Given the description of an element on the screen output the (x, y) to click on. 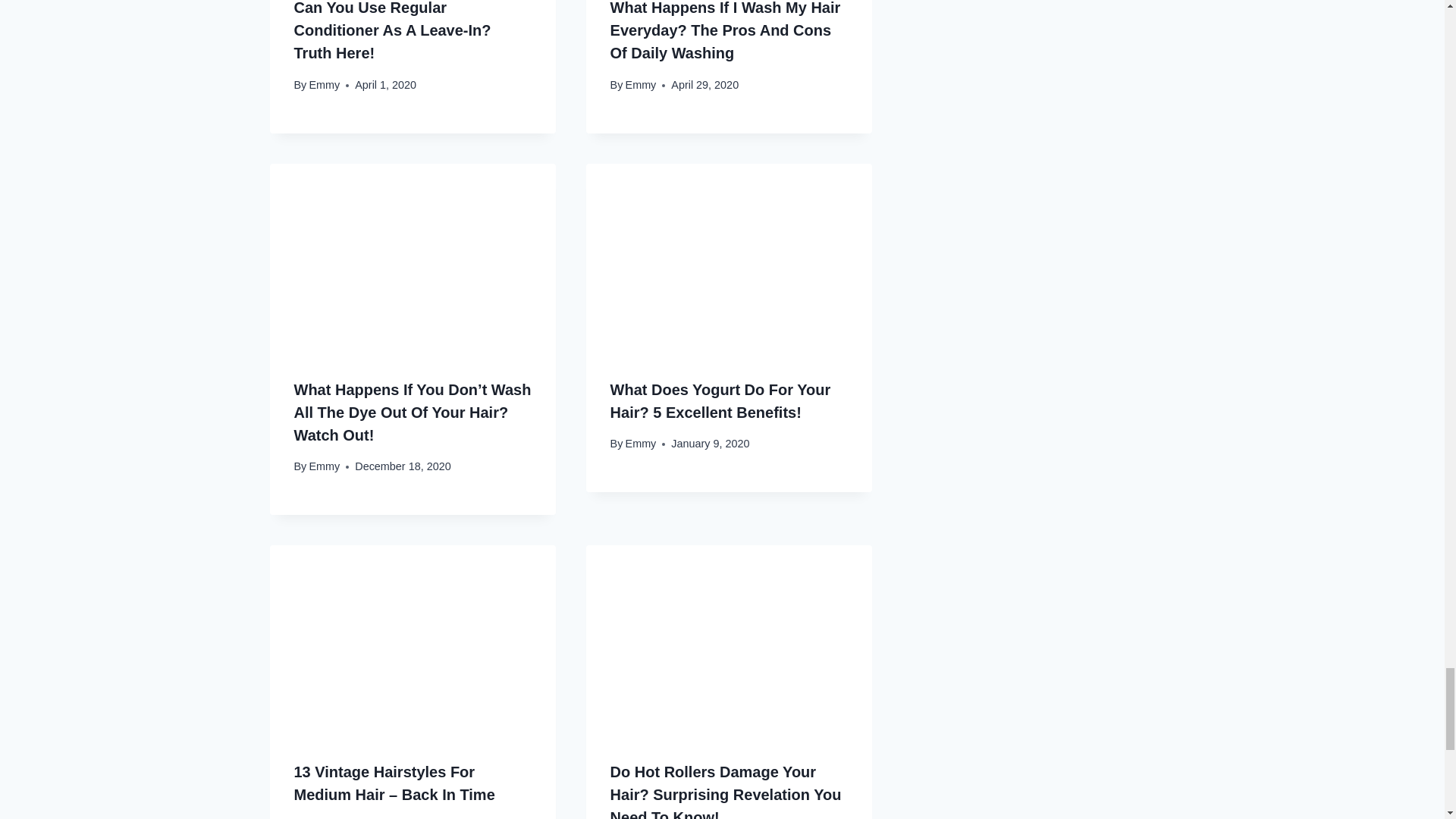
Can You Use Regular Conditioner As A Leave-In? Truth Here! (393, 30)
Emmy (641, 84)
Emmy (323, 84)
